Given the description of an element on the screen output the (x, y) to click on. 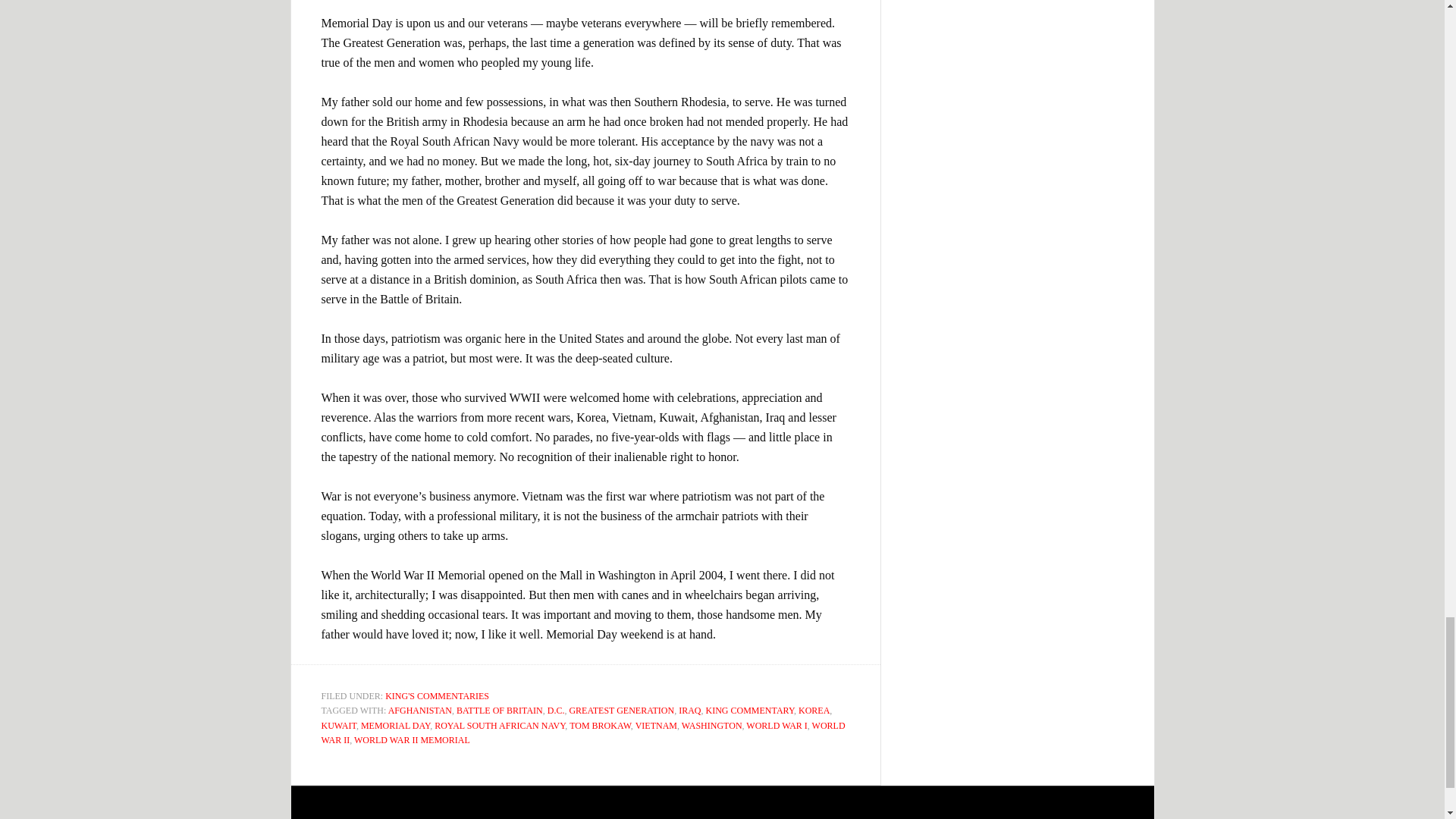
BATTLE OF BRITAIN (500, 710)
D.C. (555, 710)
KING'S COMMENTARIES (437, 696)
KING COMMENTARY (750, 710)
IRAQ (689, 710)
KOREA (813, 710)
AFGHANISTAN (419, 710)
GREATEST GENERATION (621, 710)
